Given the description of an element on the screen output the (x, y) to click on. 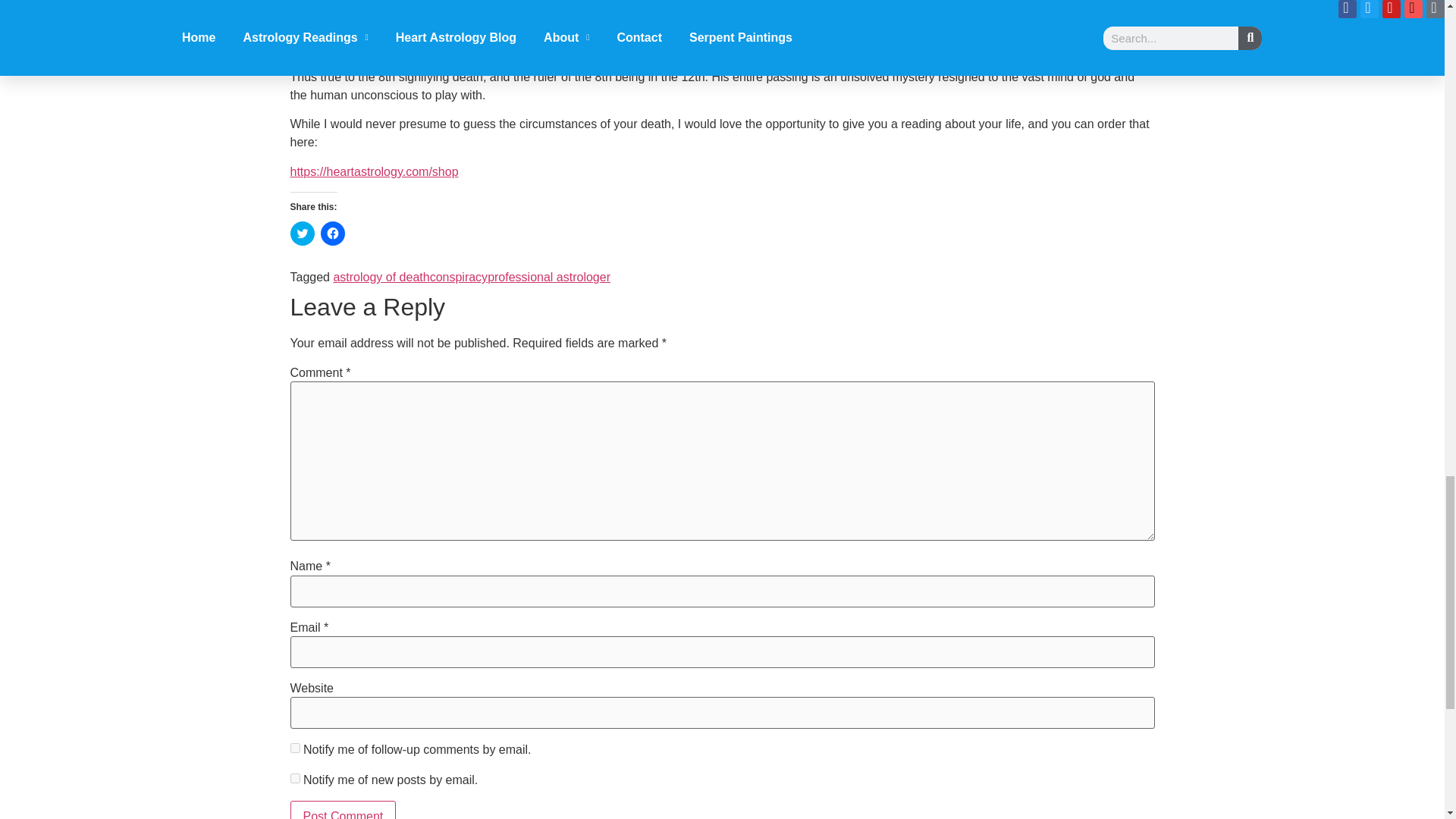
subscribe (294, 777)
Click to share on Facebook (331, 233)
Click to share on Twitter (301, 233)
subscribe (294, 747)
Post Comment (342, 809)
